Given the description of an element on the screen output the (x, y) to click on. 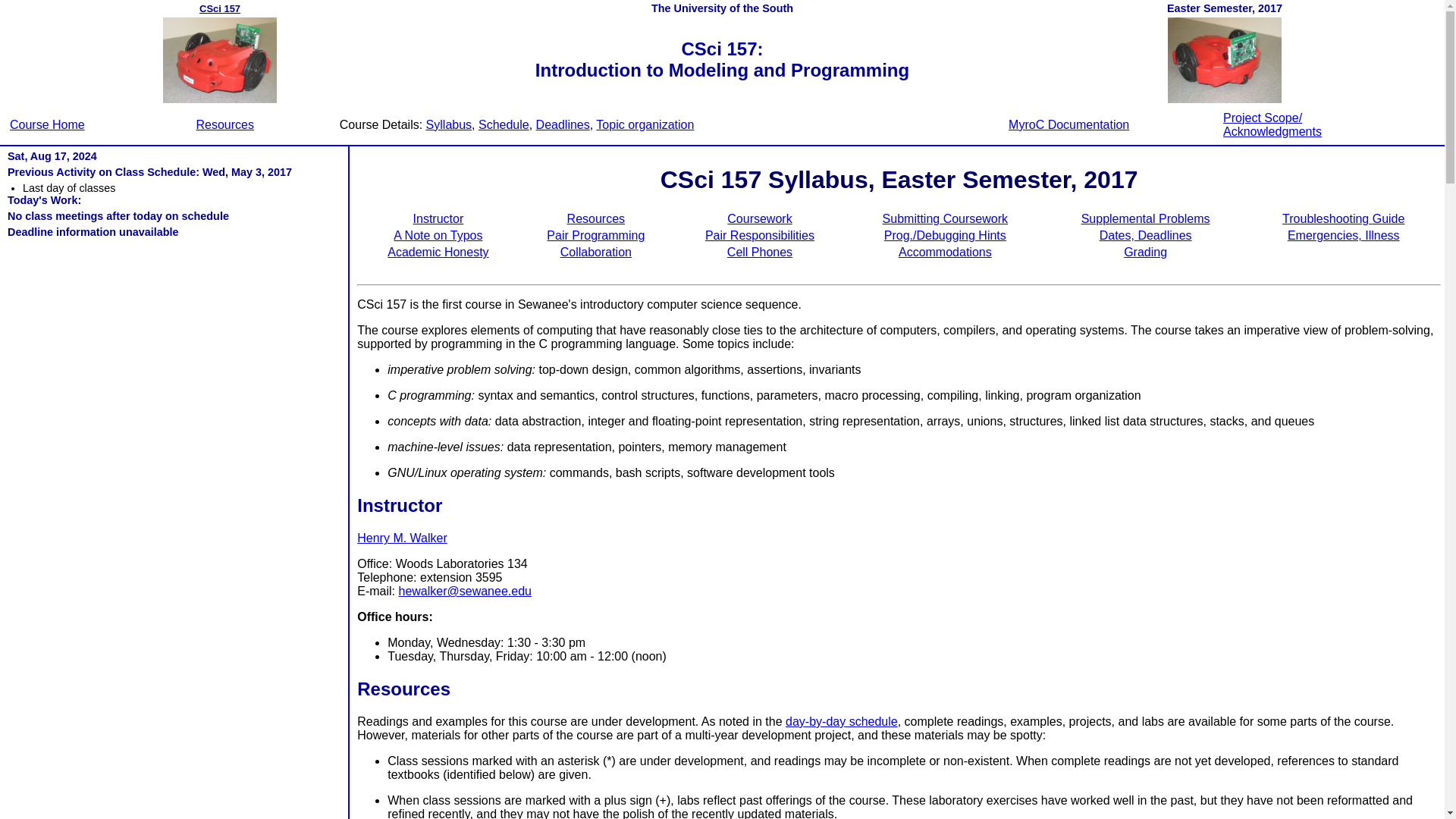
A Note on Typos (437, 235)
Resources (224, 124)
Coursework (759, 218)
MyroC Documentation (1069, 124)
CSci 157 (219, 8)
day-by-day schedule (842, 721)
Grading (1145, 251)
Submitting Coursework (944, 218)
Troubleshooting Guide (1343, 218)
Pair Programming (596, 235)
